Given the description of an element on the screen output the (x, y) to click on. 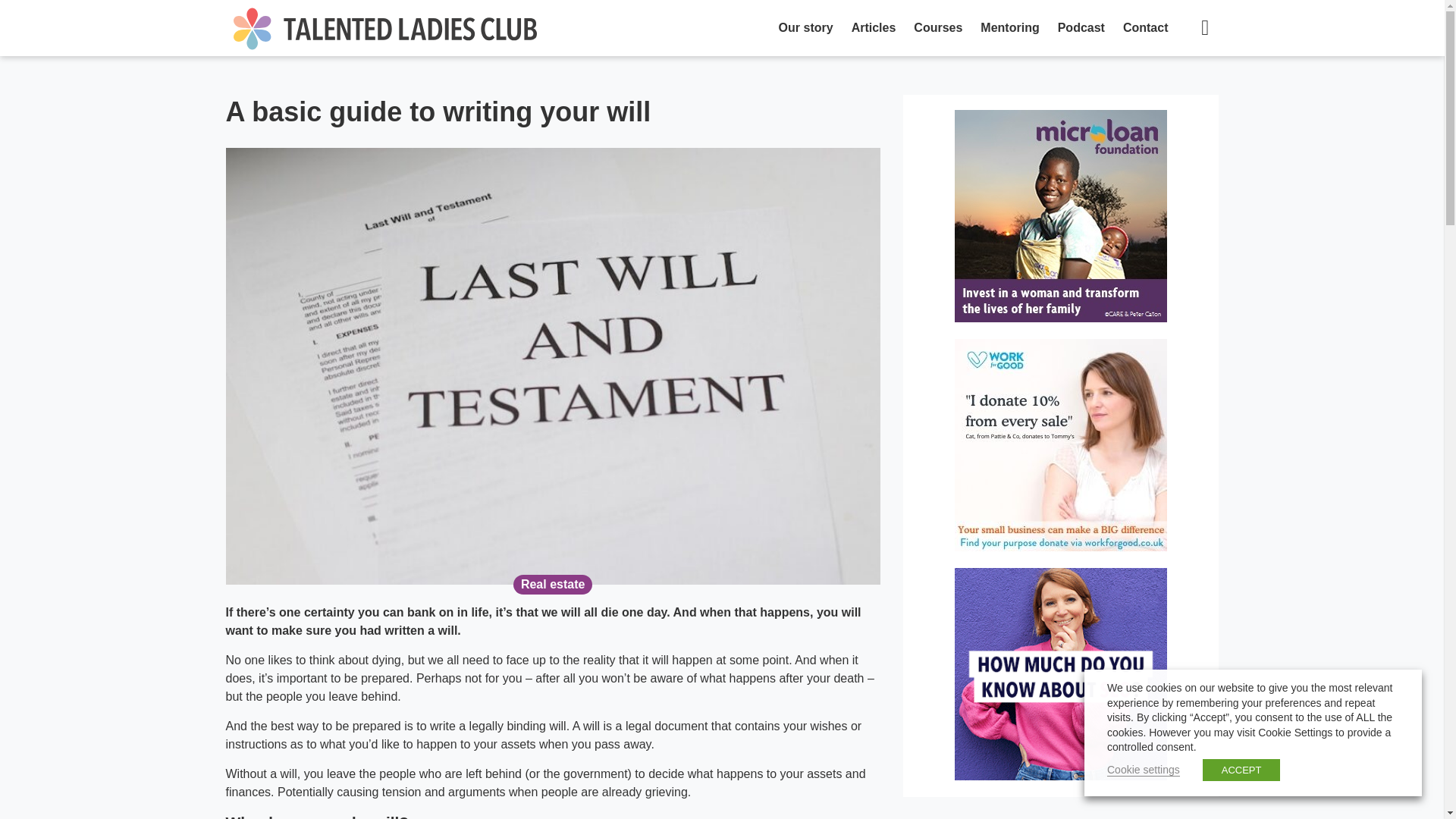
Podcast (1080, 28)
Courses (937, 28)
Our story (806, 28)
Contact (1145, 28)
Articles (874, 28)
Mentoring (1009, 28)
